Given the description of an element on the screen output the (x, y) to click on. 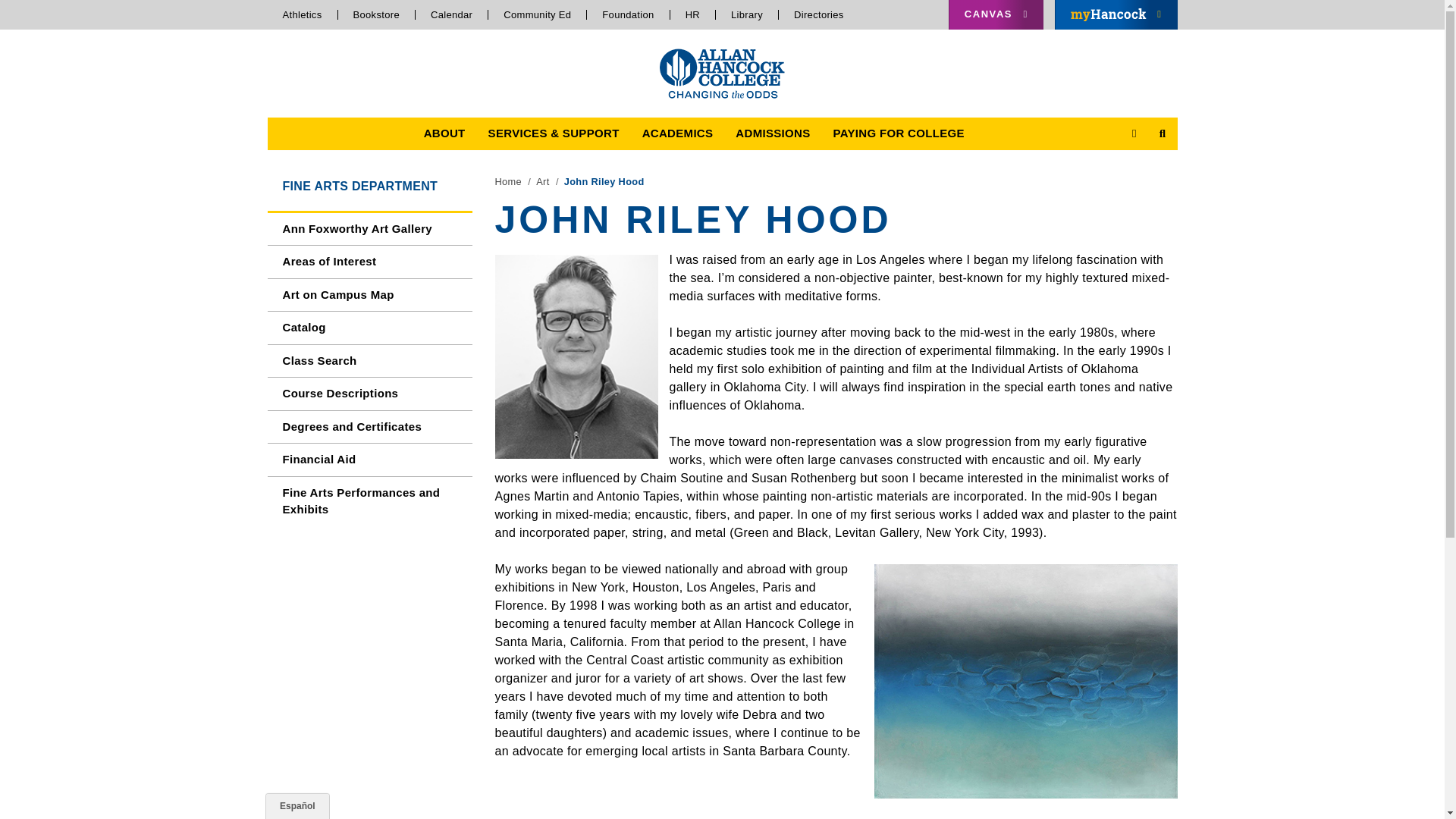
Bookstore (375, 14)
Library (747, 14)
ABOUT (444, 133)
HR (692, 14)
Athletics (301, 14)
Community Ed (536, 14)
Directories (818, 14)
Foundation (627, 14)
Bulldog Athletics Official Site (301, 14)
Nascence No. 8 (1024, 681)
Allan Hancock Bookstore Site (536, 14)
CANVAS (996, 14)
Change Language (297, 805)
Calendar (450, 14)
